Given the description of an element on the screen output the (x, y) to click on. 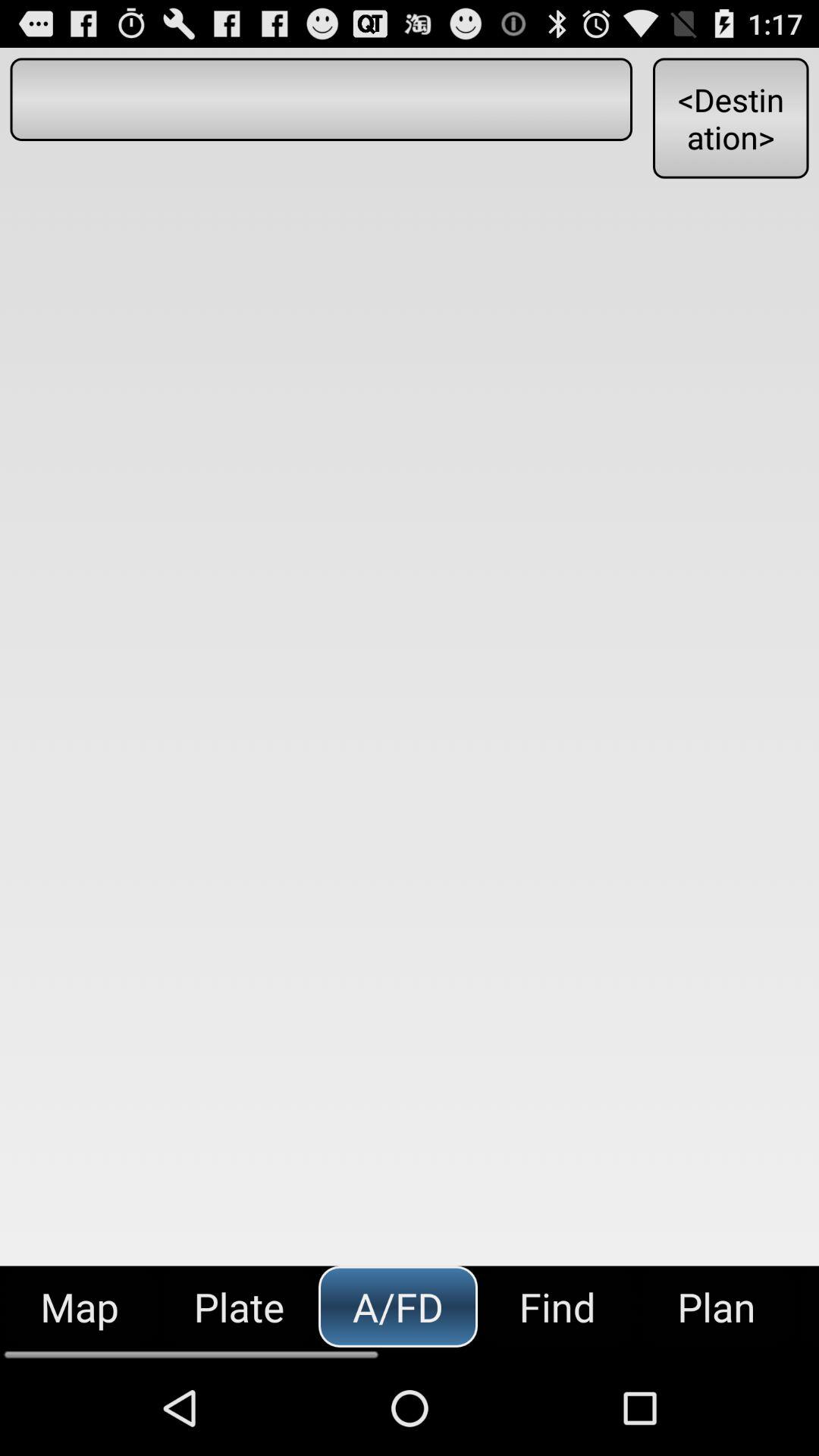
click the app above plan item (730, 118)
